Given the description of an element on the screen output the (x, y) to click on. 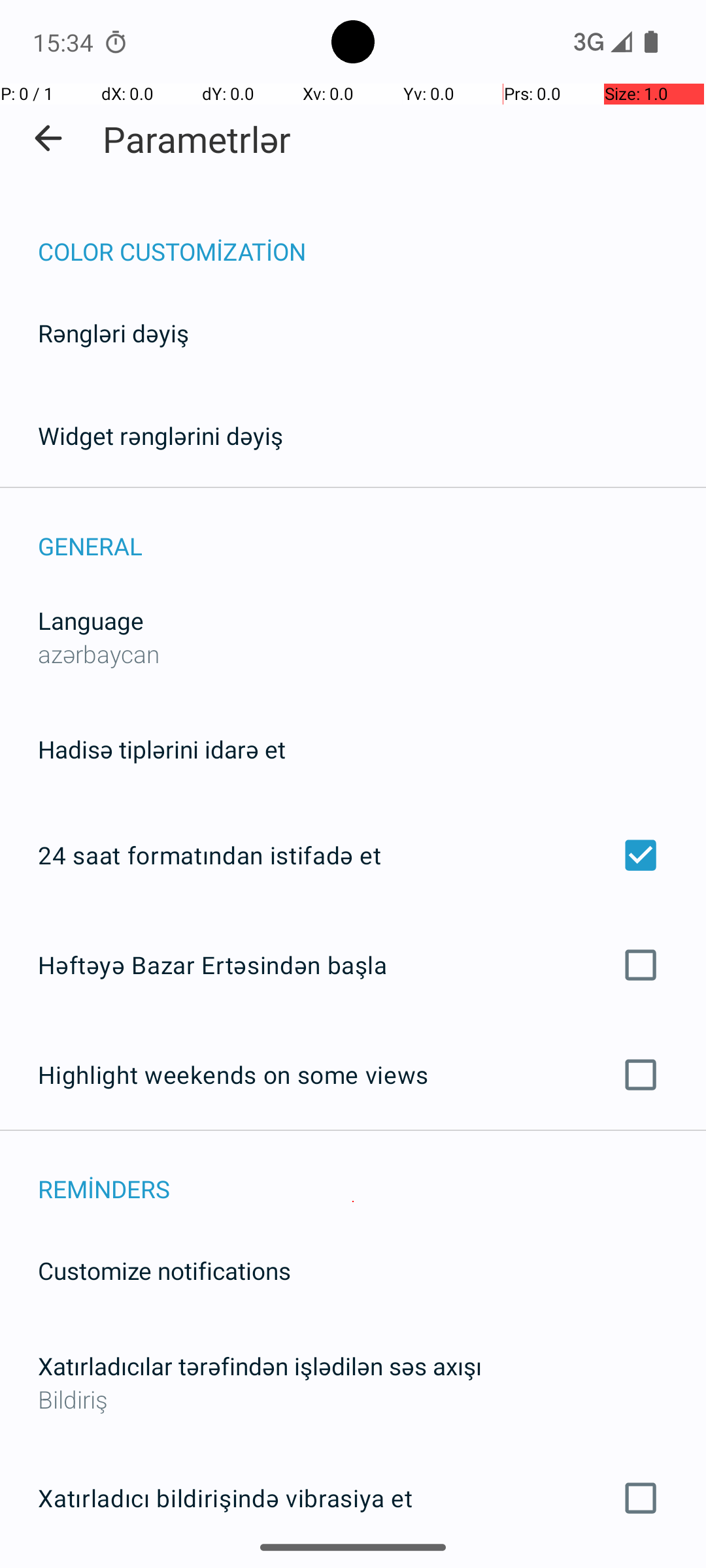
Parametrlər Element type: android.widget.TextView (196, 138)
COLOR CUSTOMİZATİON Element type: android.widget.TextView (371, 237)
REMİNDERS Element type: android.widget.TextView (371, 1174)
Rəngləri dəyiş Element type: android.widget.TextView (112, 332)
Widget rənglərini dəyiş Element type: android.widget.TextView (160, 435)
azərbaycan Element type: android.widget.TextView (98, 653)
Hadisə tiplərini idarə et Element type: android.widget.TextView (161, 748)
24 saat formatından istifadə et Element type: android.widget.CheckBox (352, 855)
Həftəyə Bazar Ertəsindən başla Element type: android.widget.CheckBox (352, 964)
Xatırladıcılar tərəfindən işlədilən səs axışı Element type: android.widget.TextView (259, 1365)
Bildiriş Element type: android.widget.TextView (352, 1398)
Xatırladıcı bildirişində vibrasiya et Element type: android.widget.CheckBox (352, 1497)
Buraxılana qədər xatırladıcıları təkrarla Element type: android.widget.CheckBox (352, 1567)
